Given the description of an element on the screen output the (x, y) to click on. 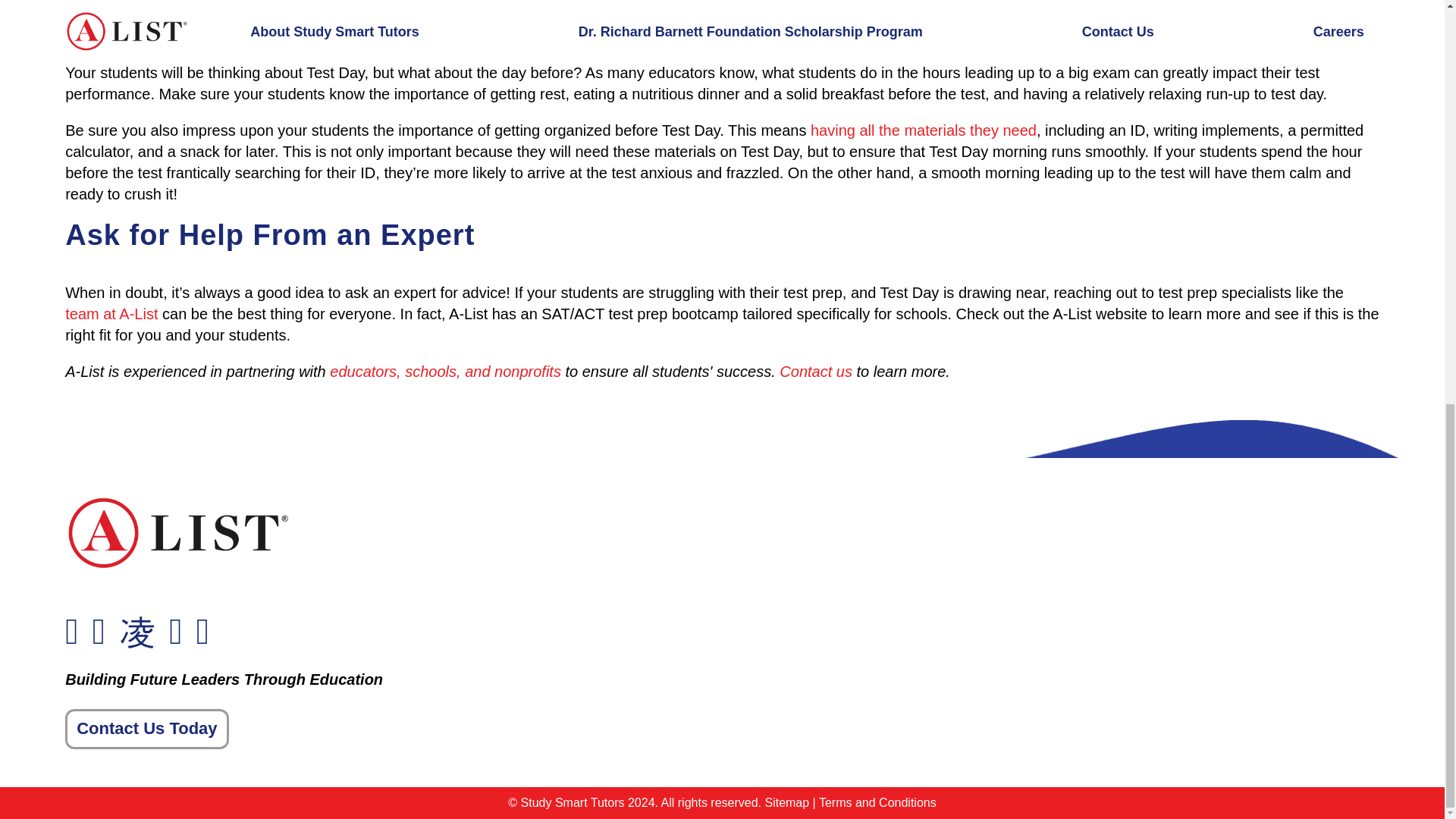
Terms and Conditions (877, 802)
Contact us (814, 371)
Contact Us Today (146, 729)
educators, schools, and nonprofits (445, 371)
having all the materials they need (923, 130)
team at A-List (111, 313)
Sitemap (786, 802)
